Given the description of an element on the screen output the (x, y) to click on. 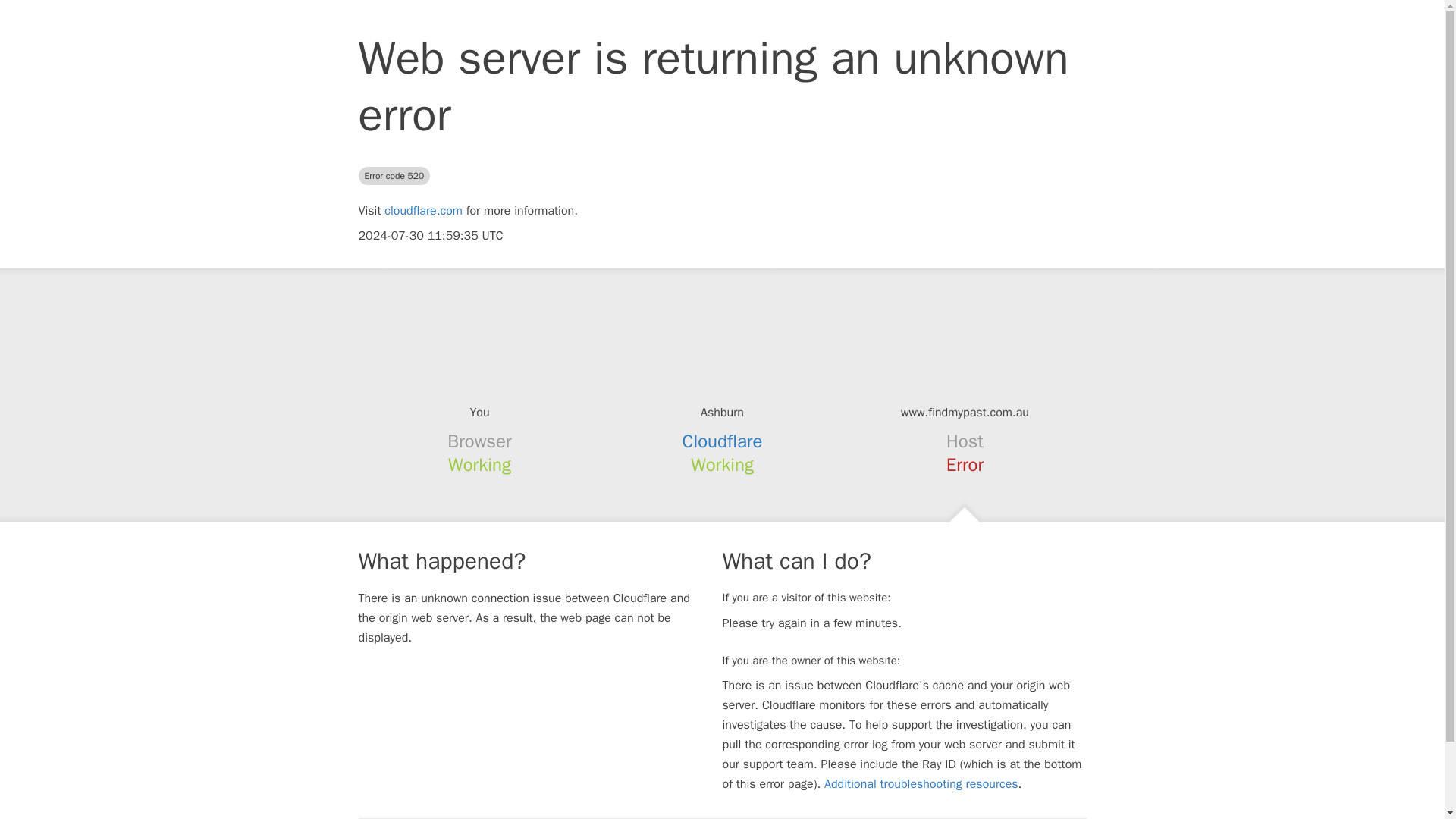
cloudflare.com (423, 210)
Cloudflare (722, 440)
Additional troubleshooting resources (920, 783)
